Given the description of an element on the screen output the (x, y) to click on. 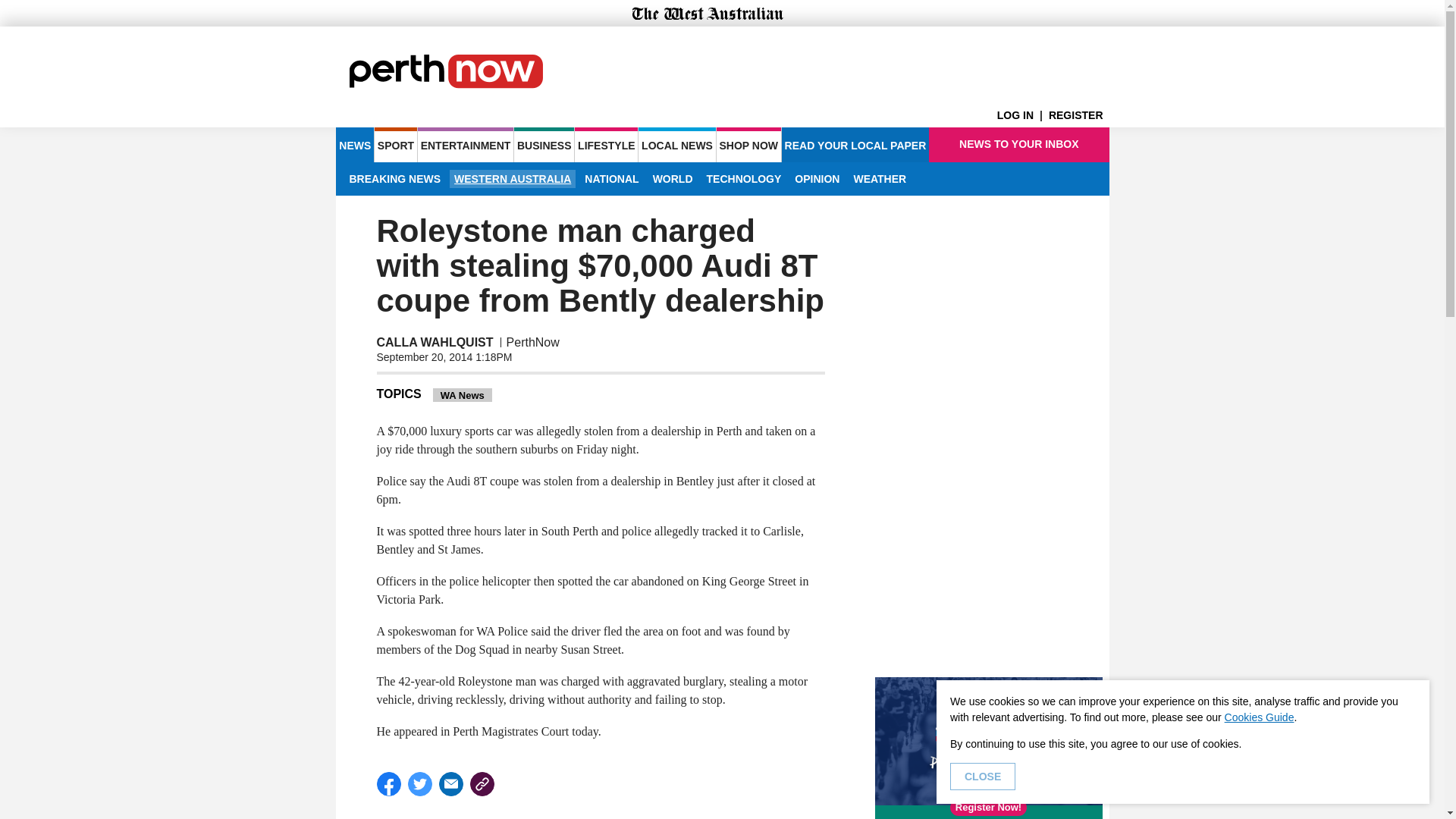
LOG IN (1022, 115)
SPORT (395, 144)
ENTERTAINMENT (465, 144)
NEWS (354, 144)
REGISTER (1078, 115)
